Given the description of an element on the screen output the (x, y) to click on. 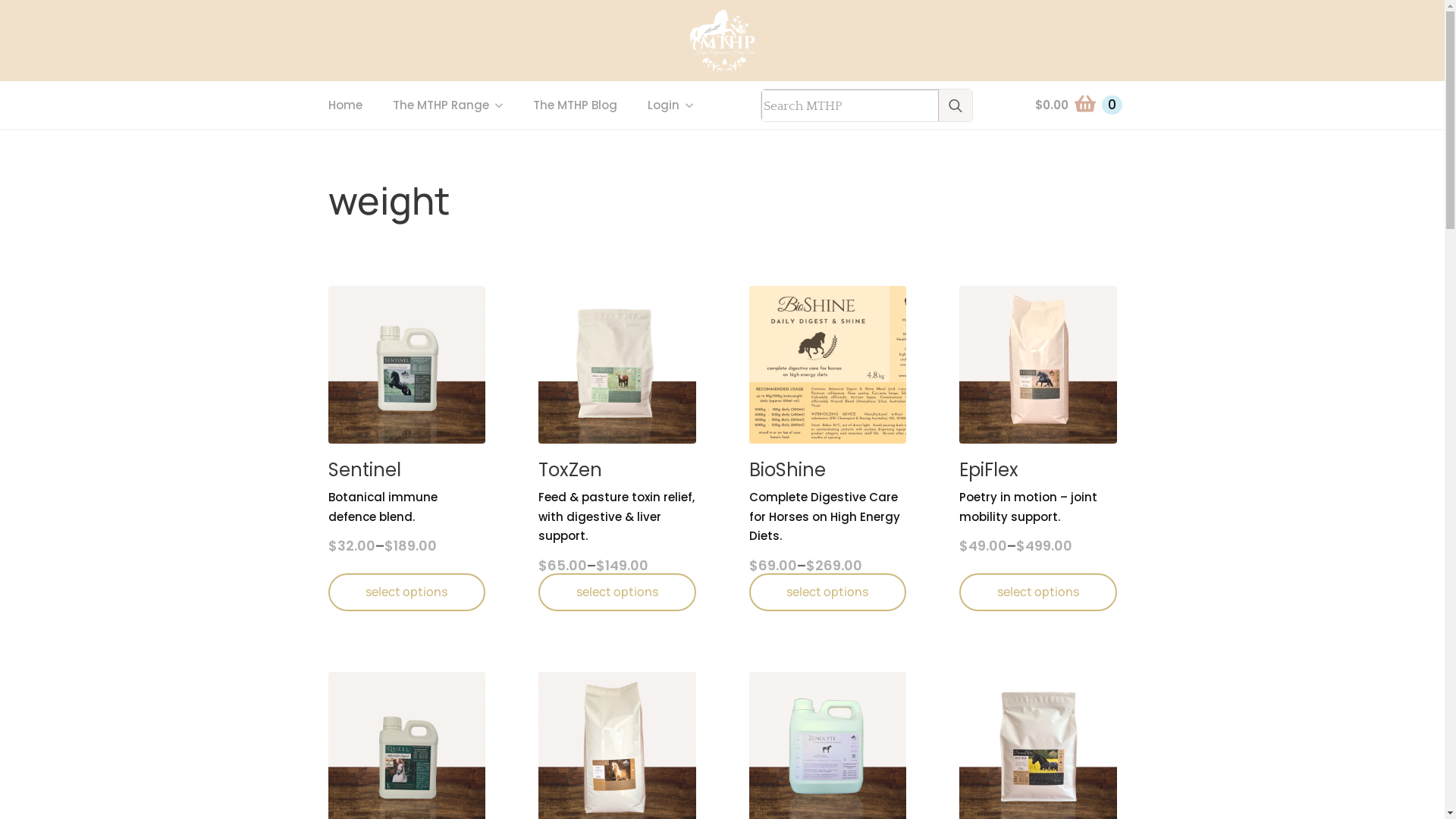
The MTHP Range Element type: text (433, 104)
Login Element type: text (655, 104)
The MTHP Blog Element type: text (574, 104)
$0.00
0 Element type: text (1078, 104)
select options Element type: text (617, 591)
select options Element type: text (406, 591)
Home Element type: text (344, 104)
select options Element type: text (827, 591)
select options Element type: text (1038, 591)
